Given the description of an element on the screen output the (x, y) to click on. 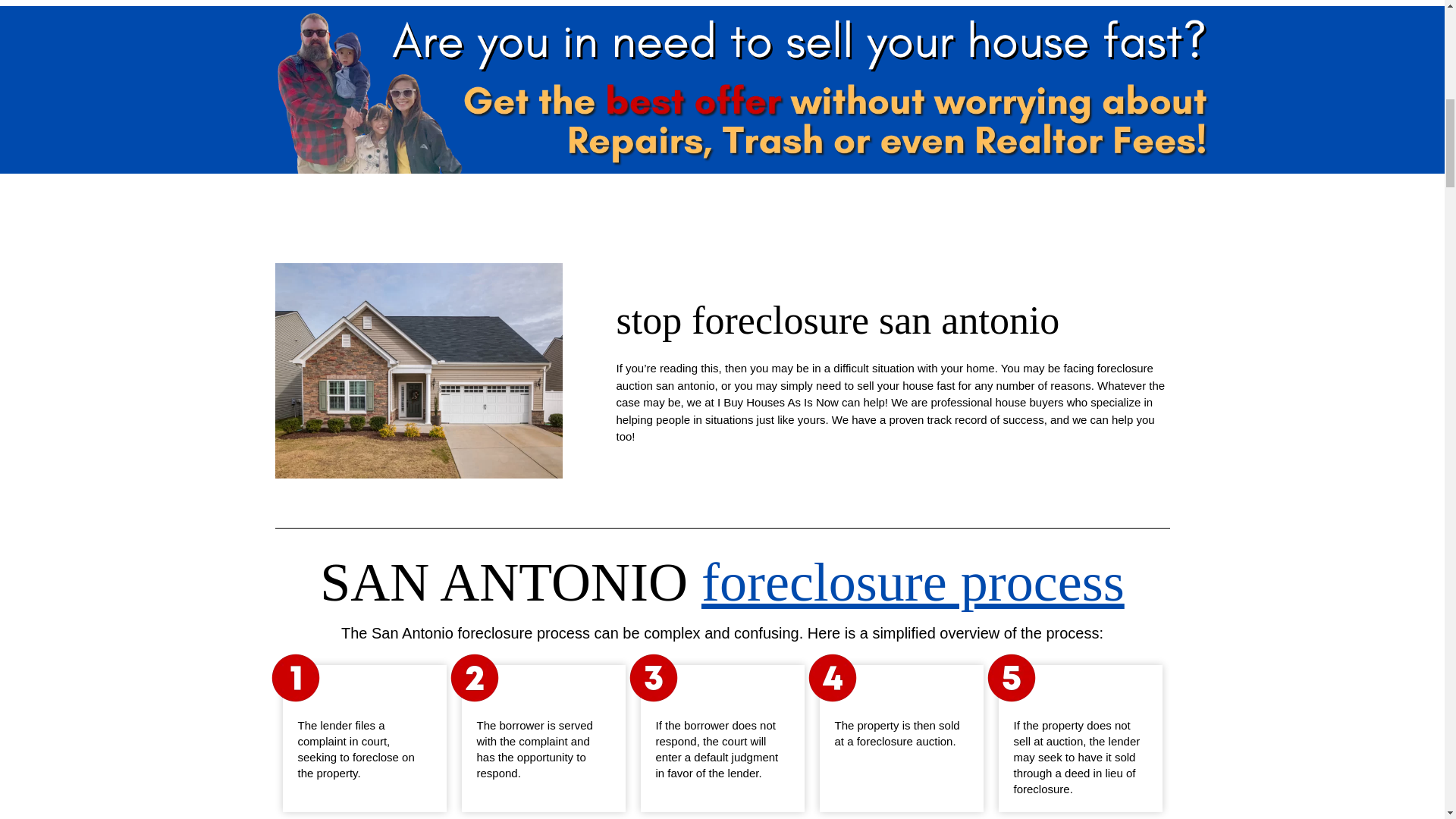
Home 2 (295, 677)
Home 6 (1011, 677)
Home 5 (832, 677)
SAN ANTONIO foreclosure process (722, 582)
Home 3 (474, 677)
stop foreclosure san antonio (837, 320)
Home 4 (653, 677)
Home 1 (418, 370)
